Given the description of an element on the screen output the (x, y) to click on. 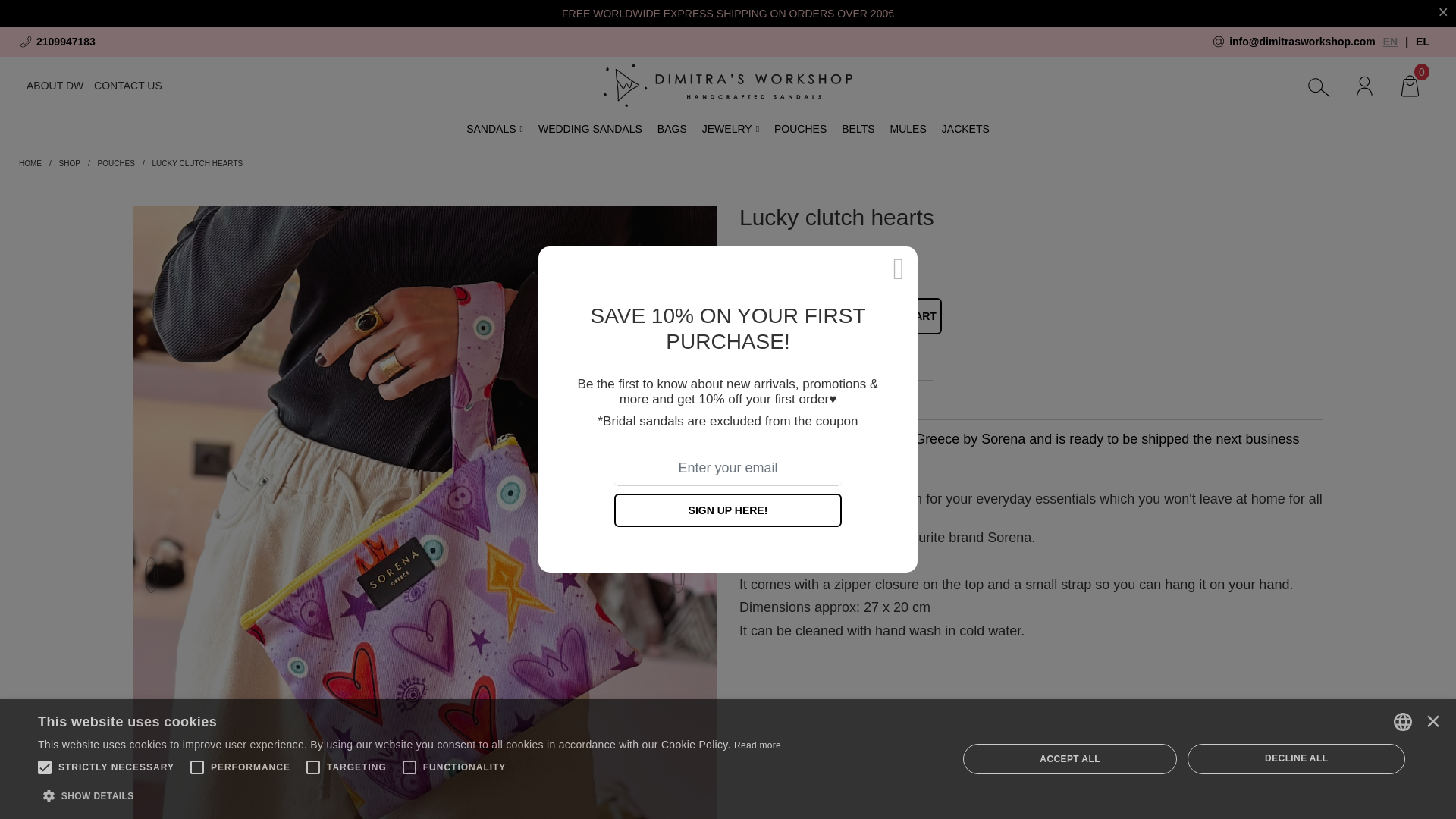
1 (785, 316)
Phone (187, 41)
ABOUT DW (55, 85)
SANDALS (493, 128)
BELTS (858, 128)
2109947183 (187, 41)
JACKETS (966, 128)
MULES (907, 128)
POUCHES (800, 128)
EL (1422, 41)
WEDDING SANDALS (590, 128)
Email (1293, 41)
EN (1390, 41)
CONTACT US (127, 85)
BAGS (672, 128)
